Given the description of an element on the screen output the (x, y) to click on. 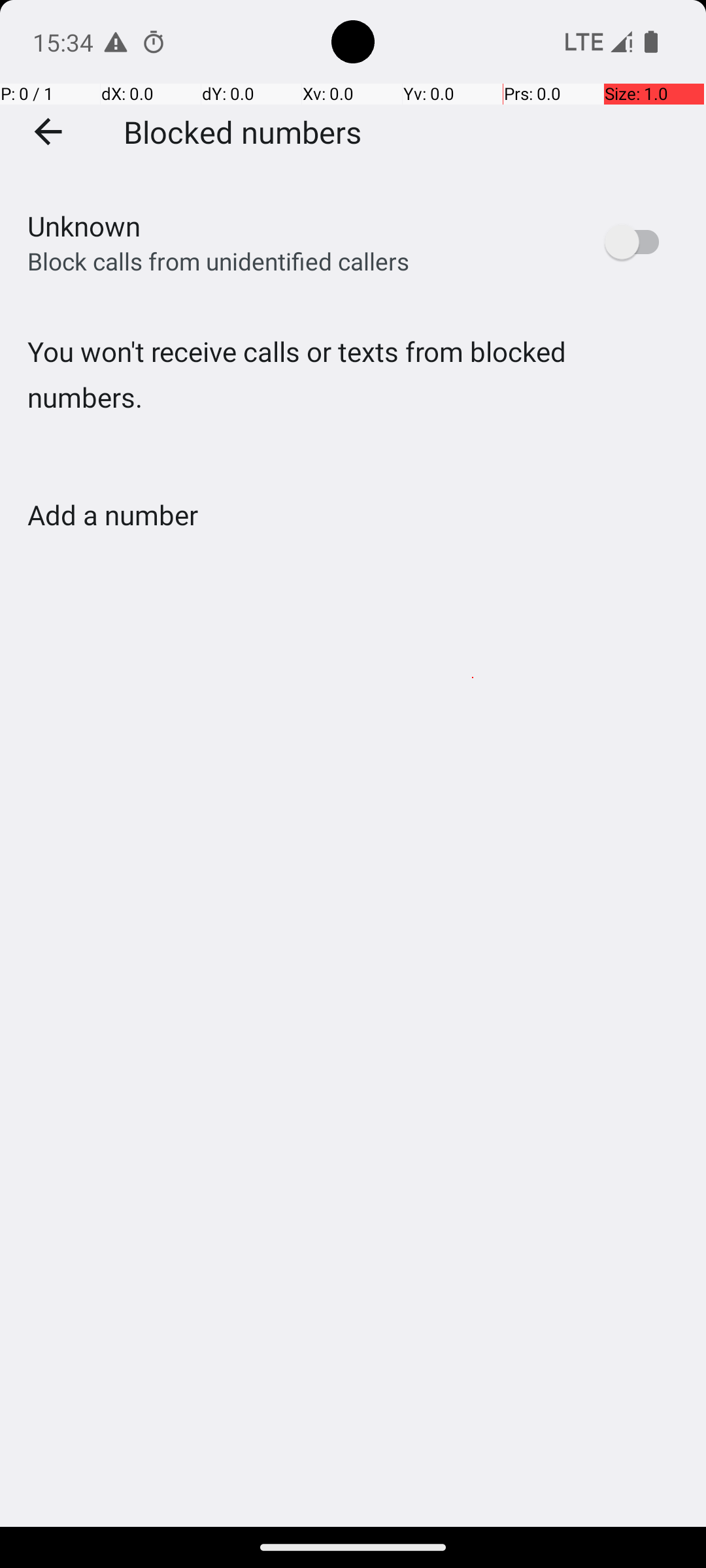
Blocked numbers Element type: android.widget.TextView (242, 131)
You won't receive calls or texts from blocked numbers. Element type: android.widget.TextView (352, 401)
Add a number Element type: android.widget.TextView (112, 514)
Unknown Element type: android.widget.TextView (83, 225)
Block calls from unidentified callers Element type: android.widget.TextView (218, 260)
